Given the description of an element on the screen output the (x, y) to click on. 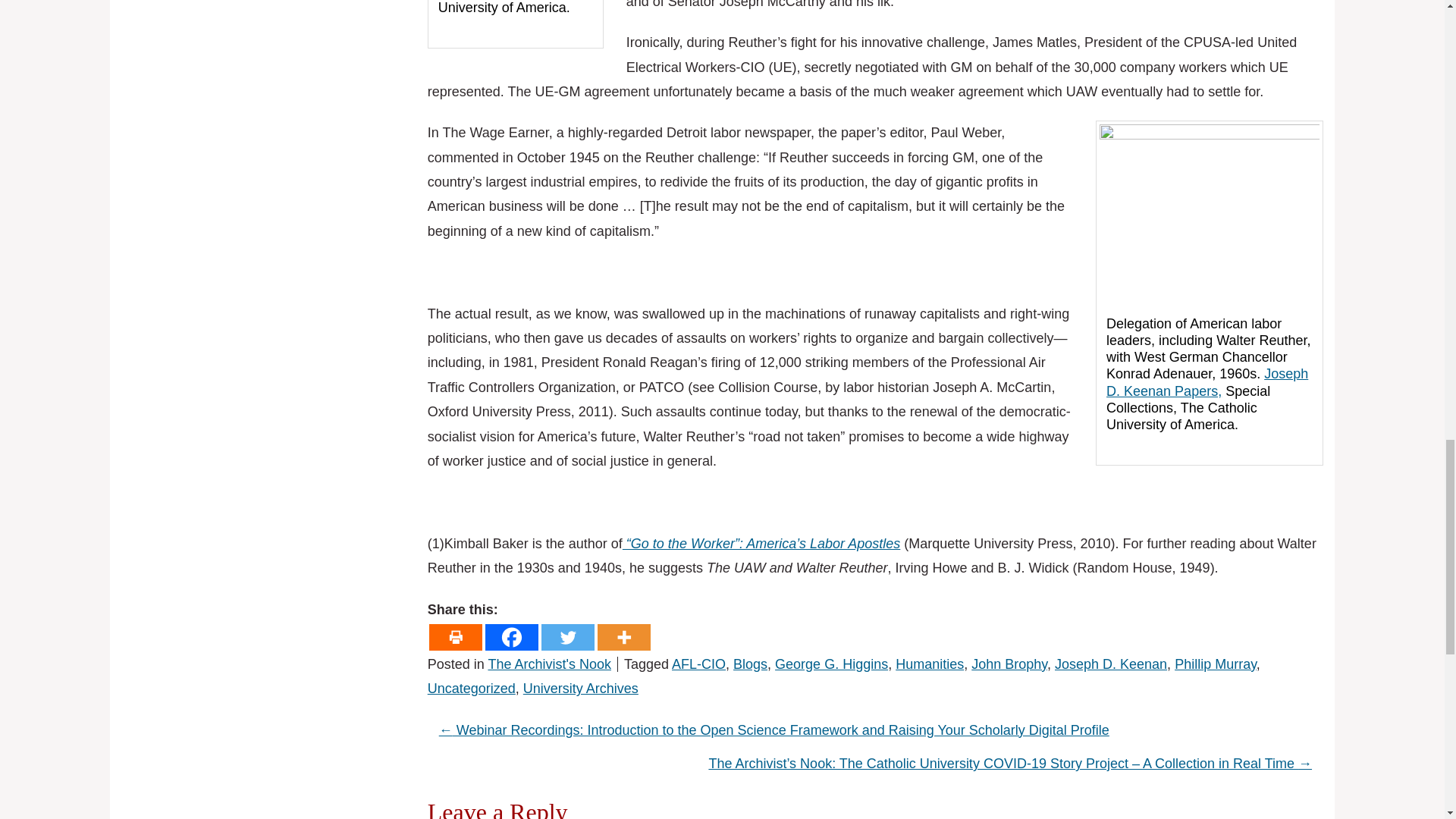
Joseph D. Keenan (1110, 663)
Humanities (929, 663)
Facebook (511, 637)
Twitter (567, 637)
More (623, 637)
Print (455, 637)
AFL-CIO (698, 663)
George G. Higgins (831, 663)
Blogs (750, 663)
Uncategorized (471, 688)
